Given the description of an element on the screen output the (x, y) to click on. 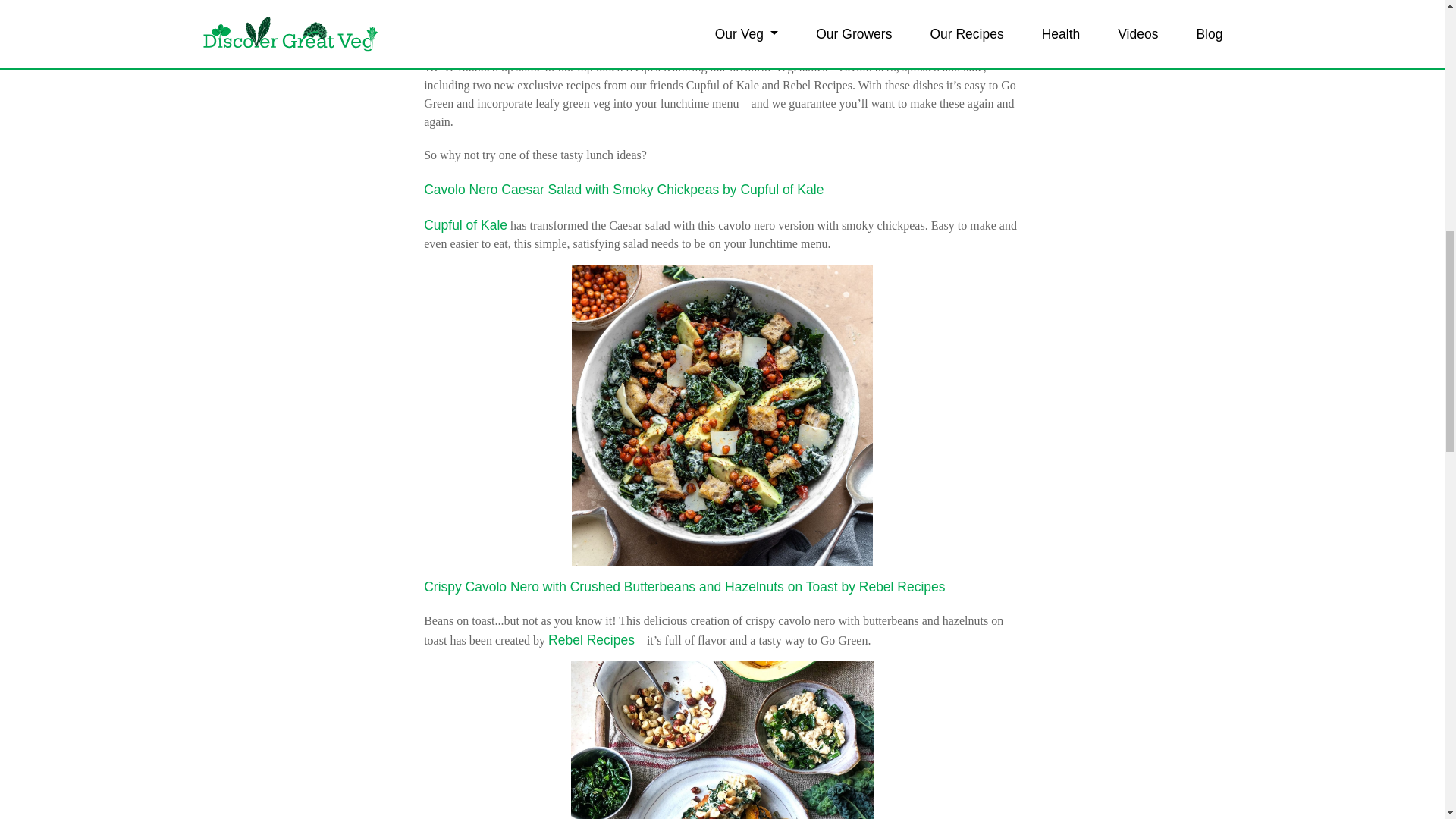
Cupful of Kale (464, 224)
Rebel Recipes (591, 639)
